Given the description of an element on the screen output the (x, y) to click on. 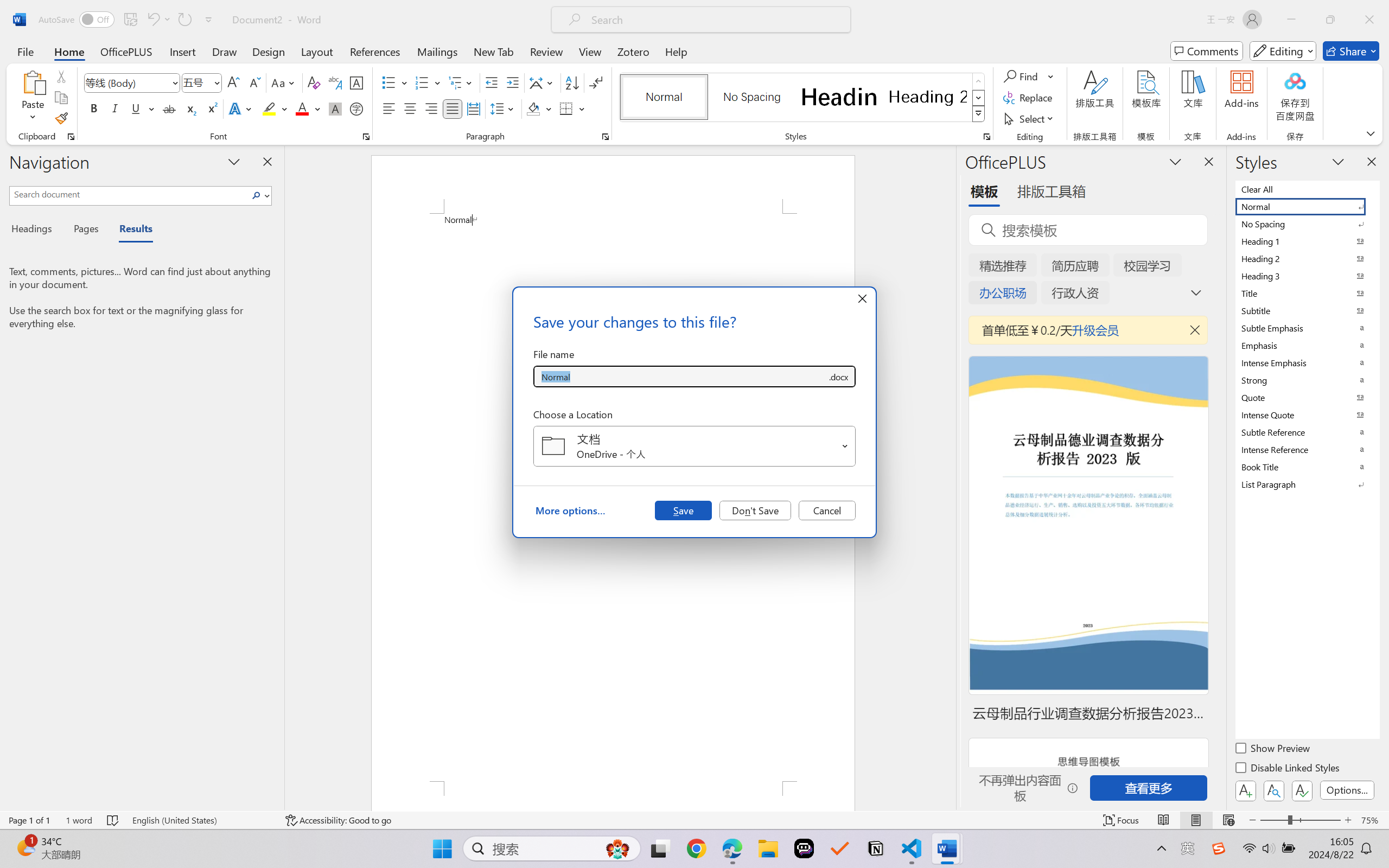
Borders (571, 108)
Underline (142, 108)
Line and Paragraph Spacing (503, 108)
Notion (875, 848)
Focus  (1121, 819)
Styles... (986, 136)
Pages (85, 229)
Strong (1306, 379)
Zoom Out (1273, 819)
Clear All (1306, 188)
Paste (33, 81)
Styles (978, 113)
